Given the description of an element on the screen output the (x, y) to click on. 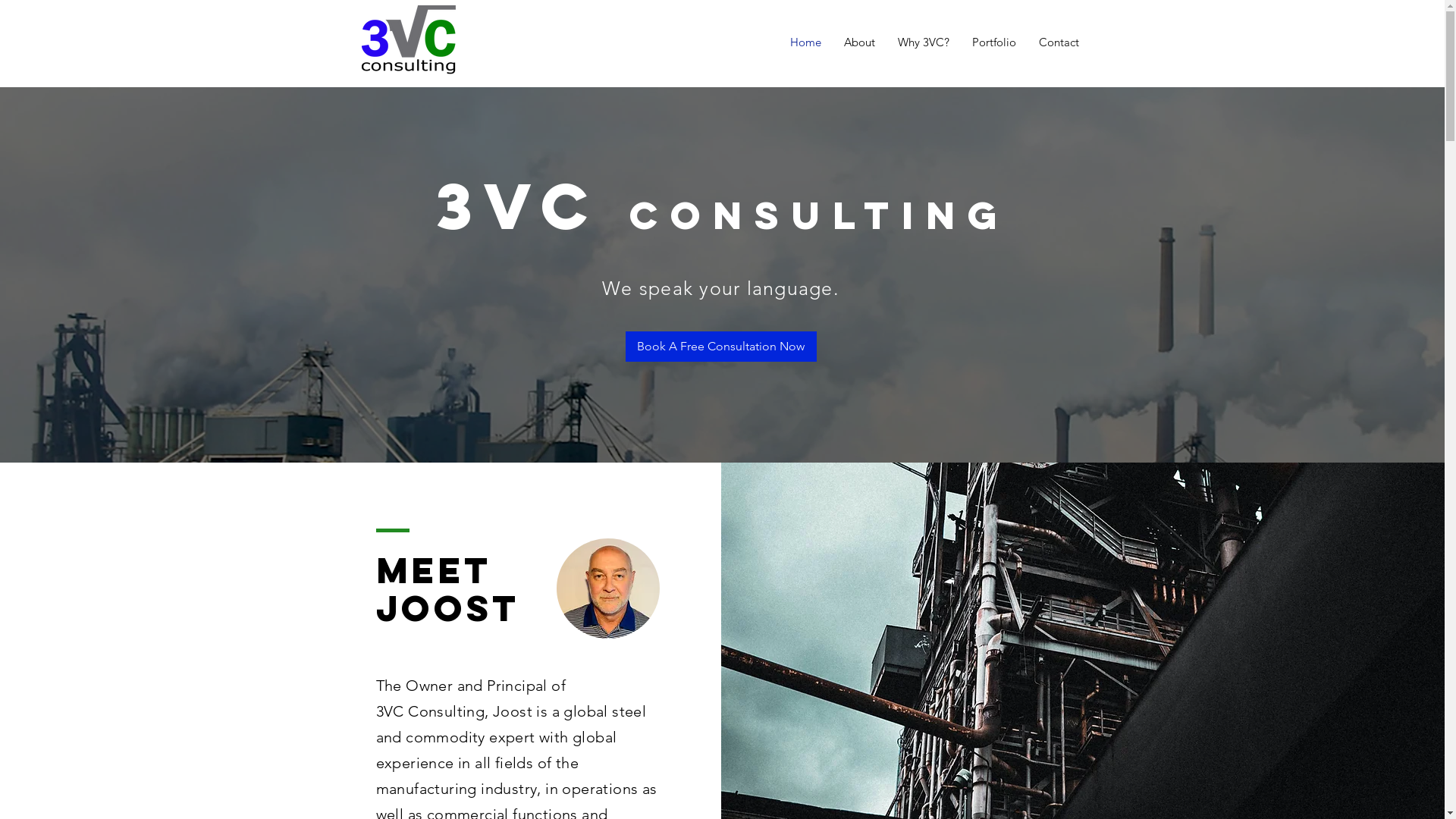
Contact Element type: text (1057, 42)
Why 3VC? Element type: text (922, 42)
Book A Free Consultation Now Element type: text (719, 346)
Home Element type: text (804, 42)
Portfolio Element type: text (993, 42)
About Element type: text (859, 42)
